Given the description of an element on the screen output the (x, y) to click on. 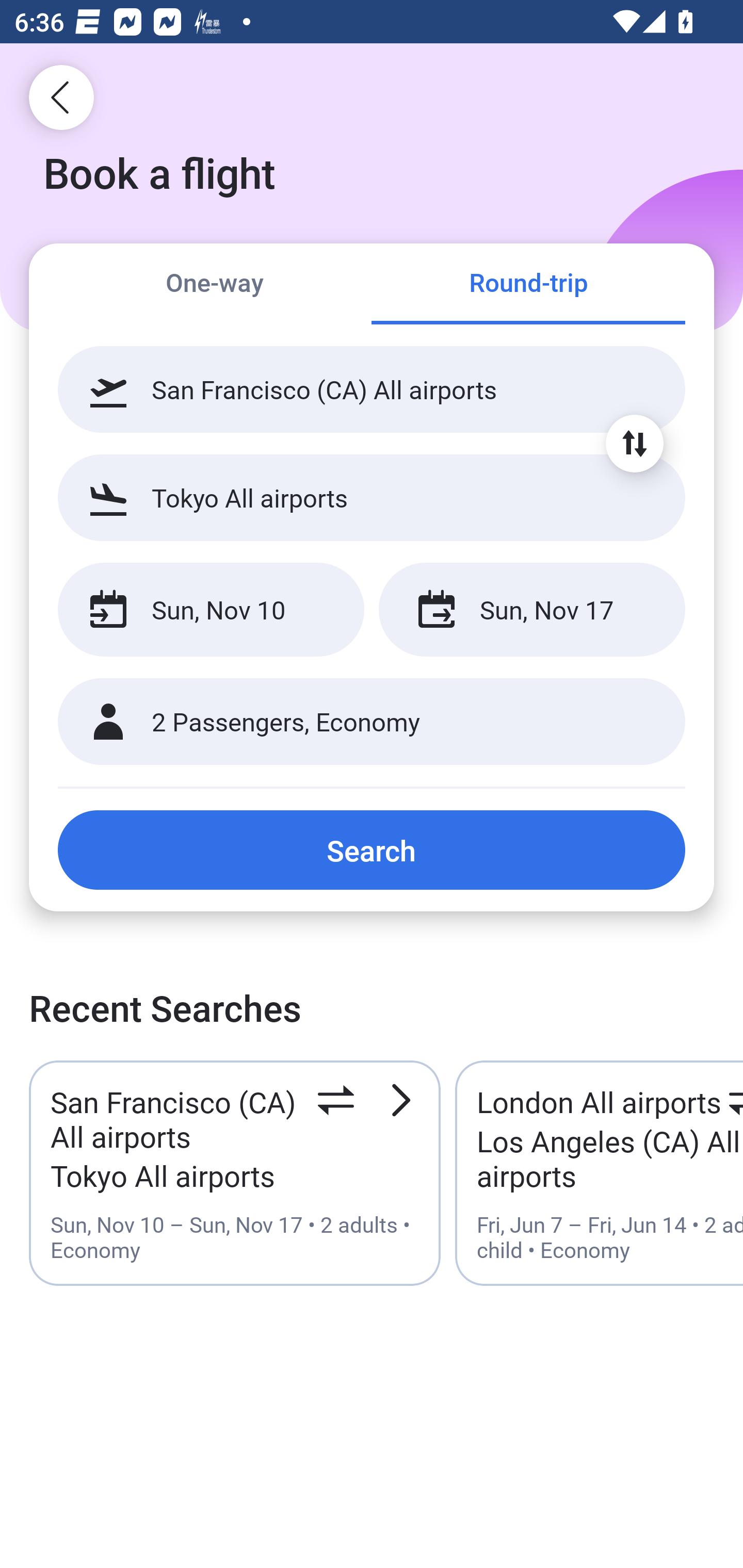
One-way (214, 284)
San Francisco (CA) All airports (371, 389)
Tokyo All airports (371, 497)
Sun, Nov 10 (210, 609)
Sun, Nov 17 (531, 609)
2 Passengers, Economy (371, 721)
Search (371, 849)
